Given the description of an element on the screen output the (x, y) to click on. 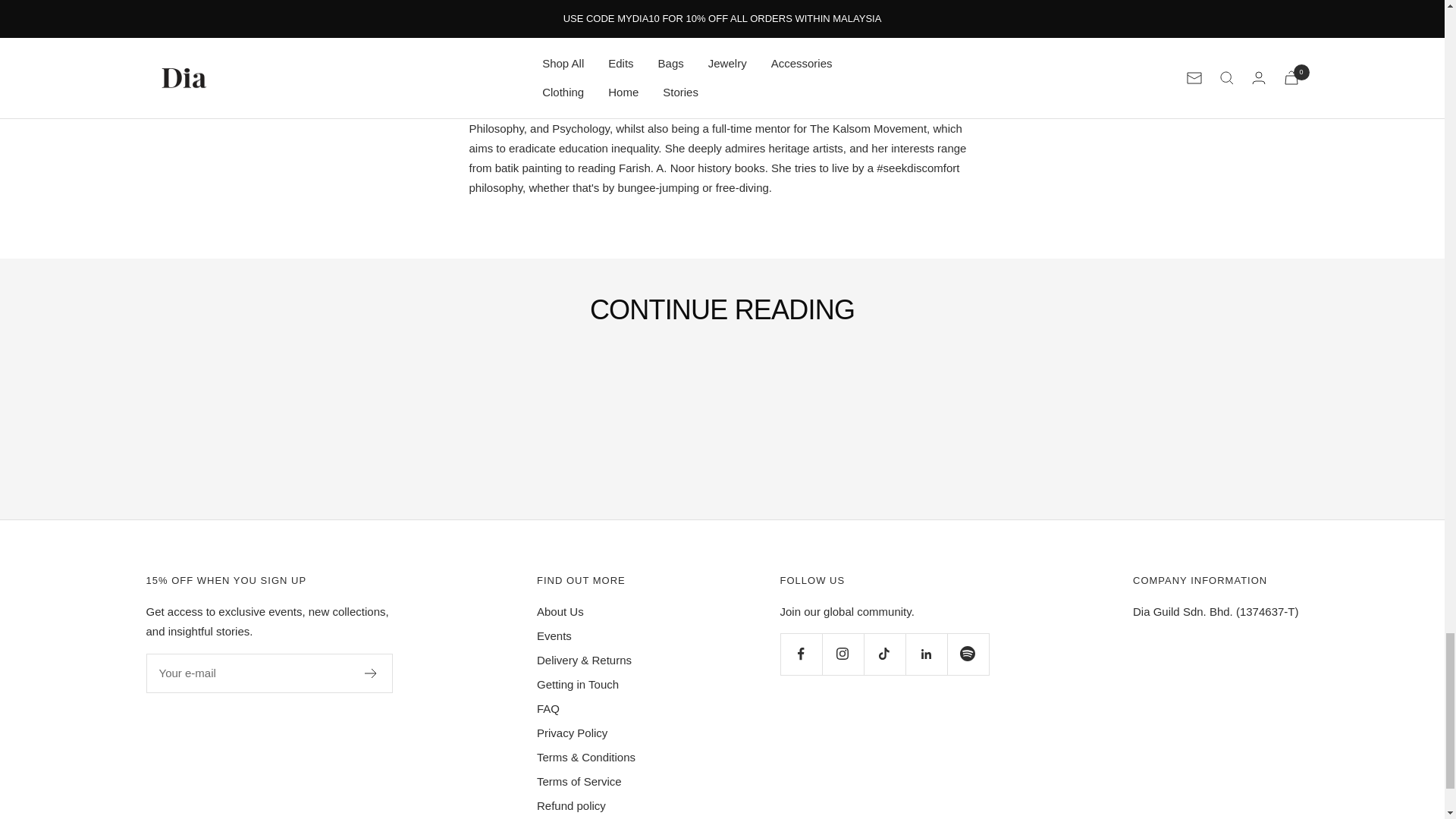
Register (370, 673)
